Given the description of an element on the screen output the (x, y) to click on. 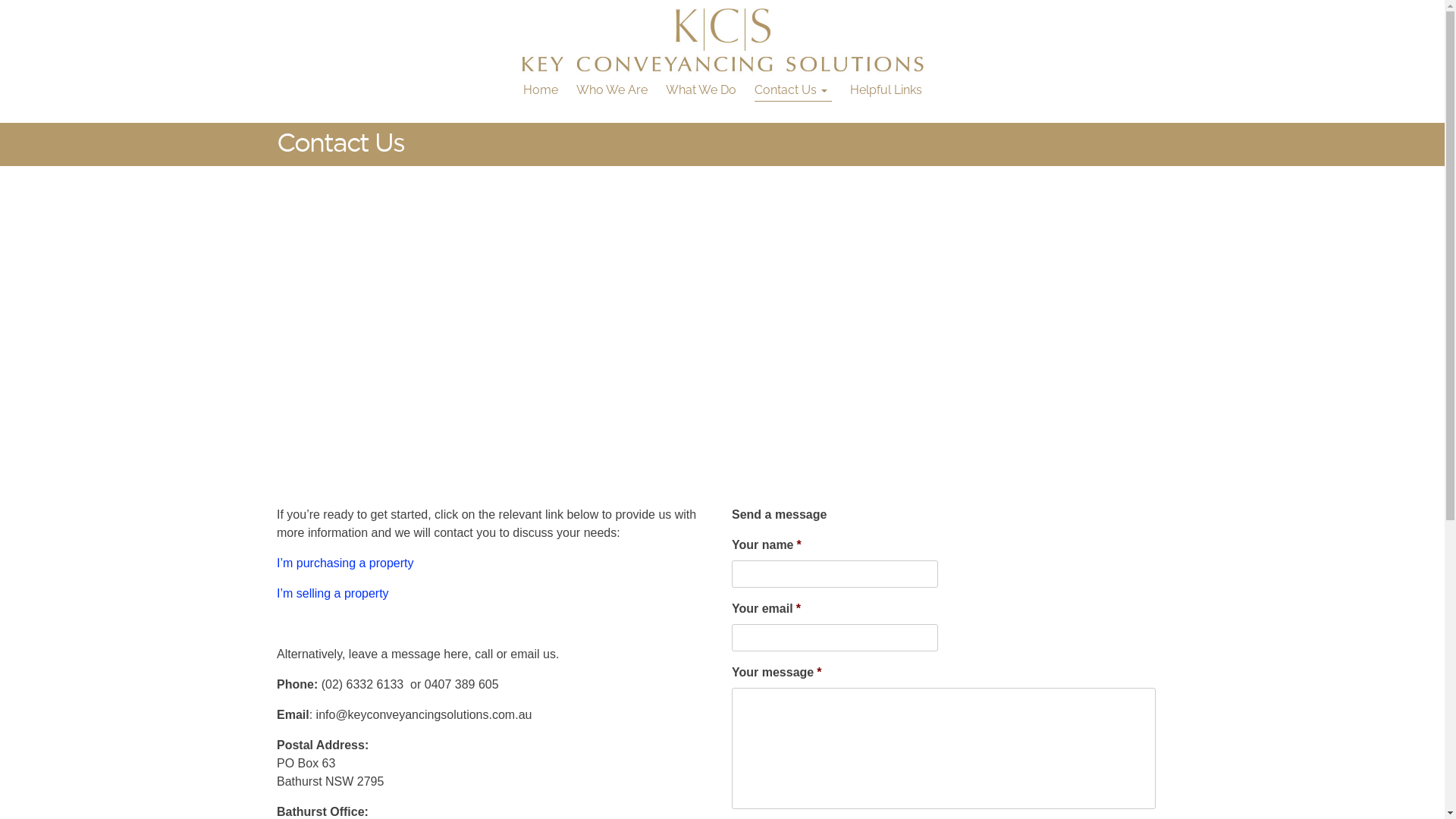
Contact Us Element type: text (792, 89)
What We Do Element type: text (700, 89)
Home Element type: text (540, 89)
Helpful Links Element type: text (885, 89)
Who We Are Element type: text (611, 89)
